Given the description of an element on the screen output the (x, y) to click on. 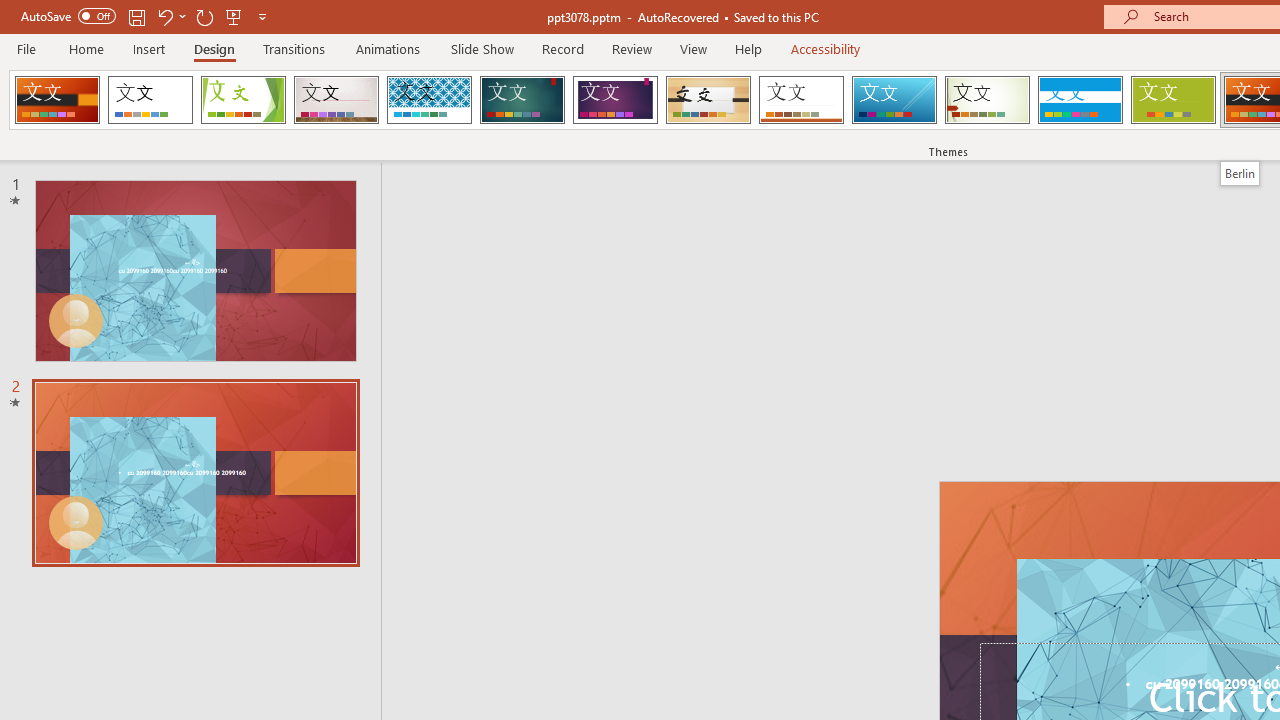
Organic (708, 100)
Gallery (336, 100)
Slice (893, 100)
Berlin (1239, 173)
Banded (1080, 100)
